Given the description of an element on the screen output the (x, y) to click on. 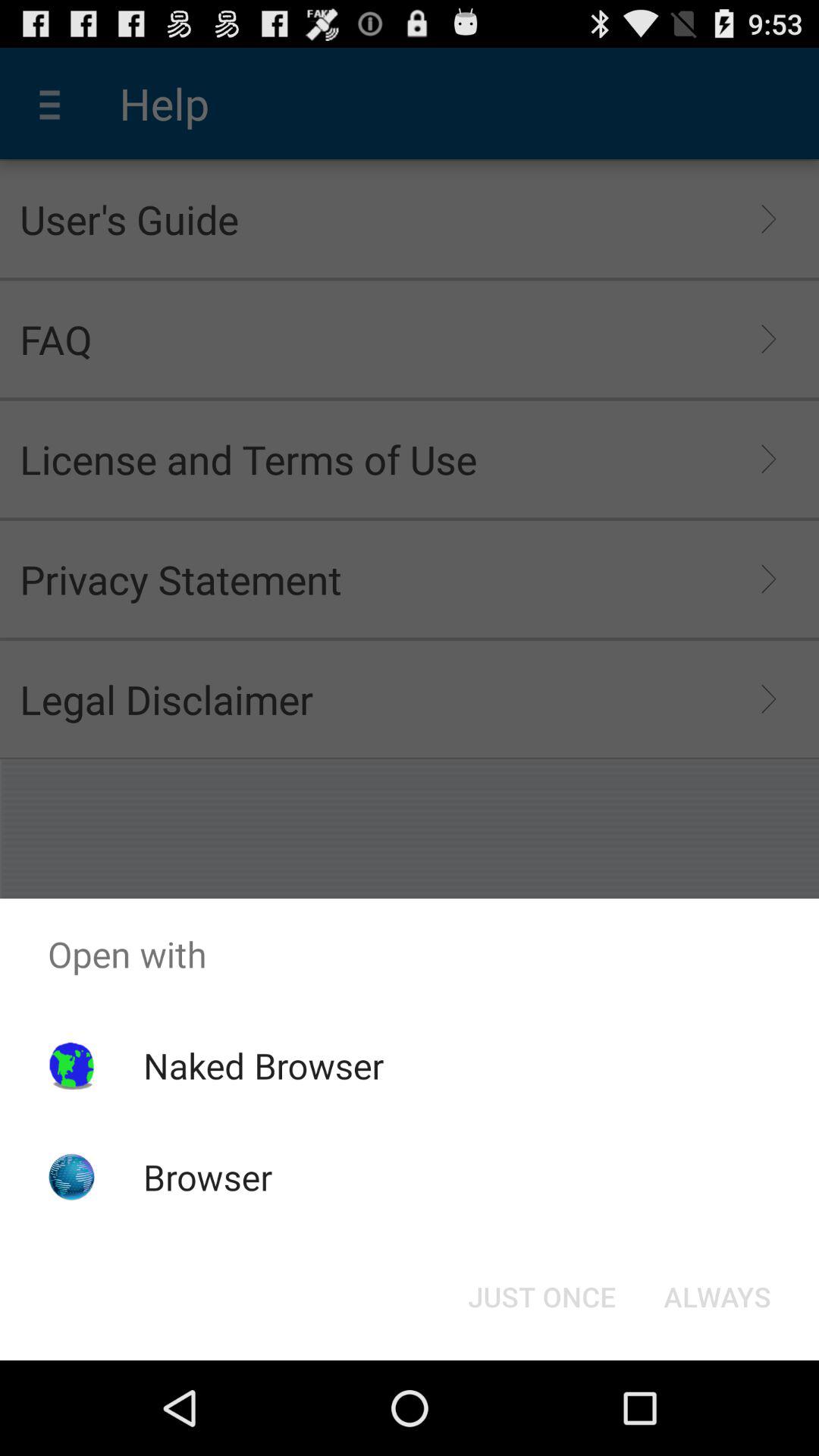
launch item next to just once item (717, 1296)
